Given the description of an element on the screen output the (x, y) to click on. 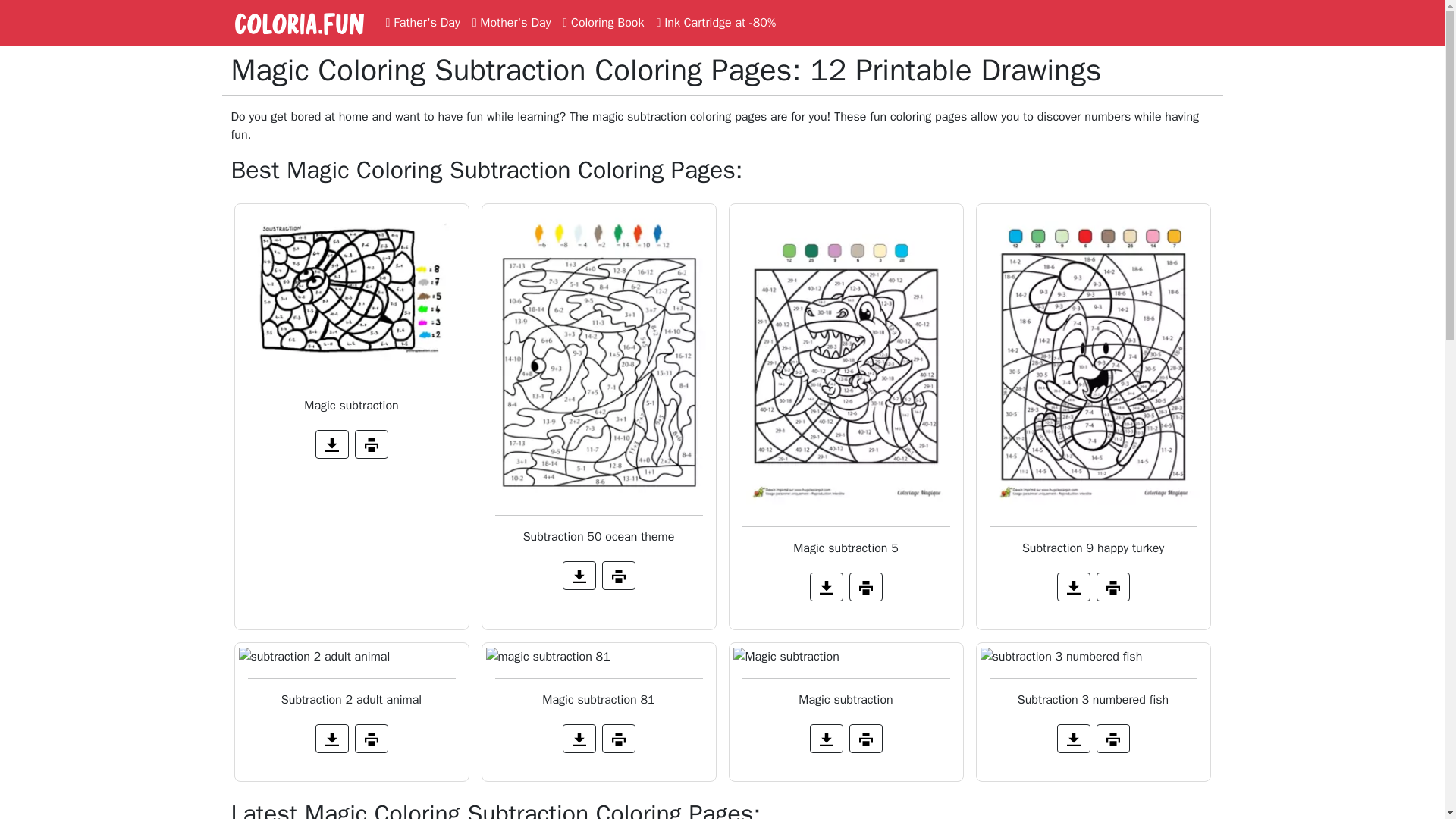
Download the coloring page (826, 586)
Print the coloring page (1112, 586)
Download the coloring page (332, 737)
coloria.fun (298, 22)
Print the coloring page (371, 443)
Print the coloring page (371, 737)
Download the coloring page (1073, 737)
Print the coloring page (865, 586)
Download the coloring page (578, 737)
Print the coloring page (618, 575)
